Given the description of an element on the screen output the (x, y) to click on. 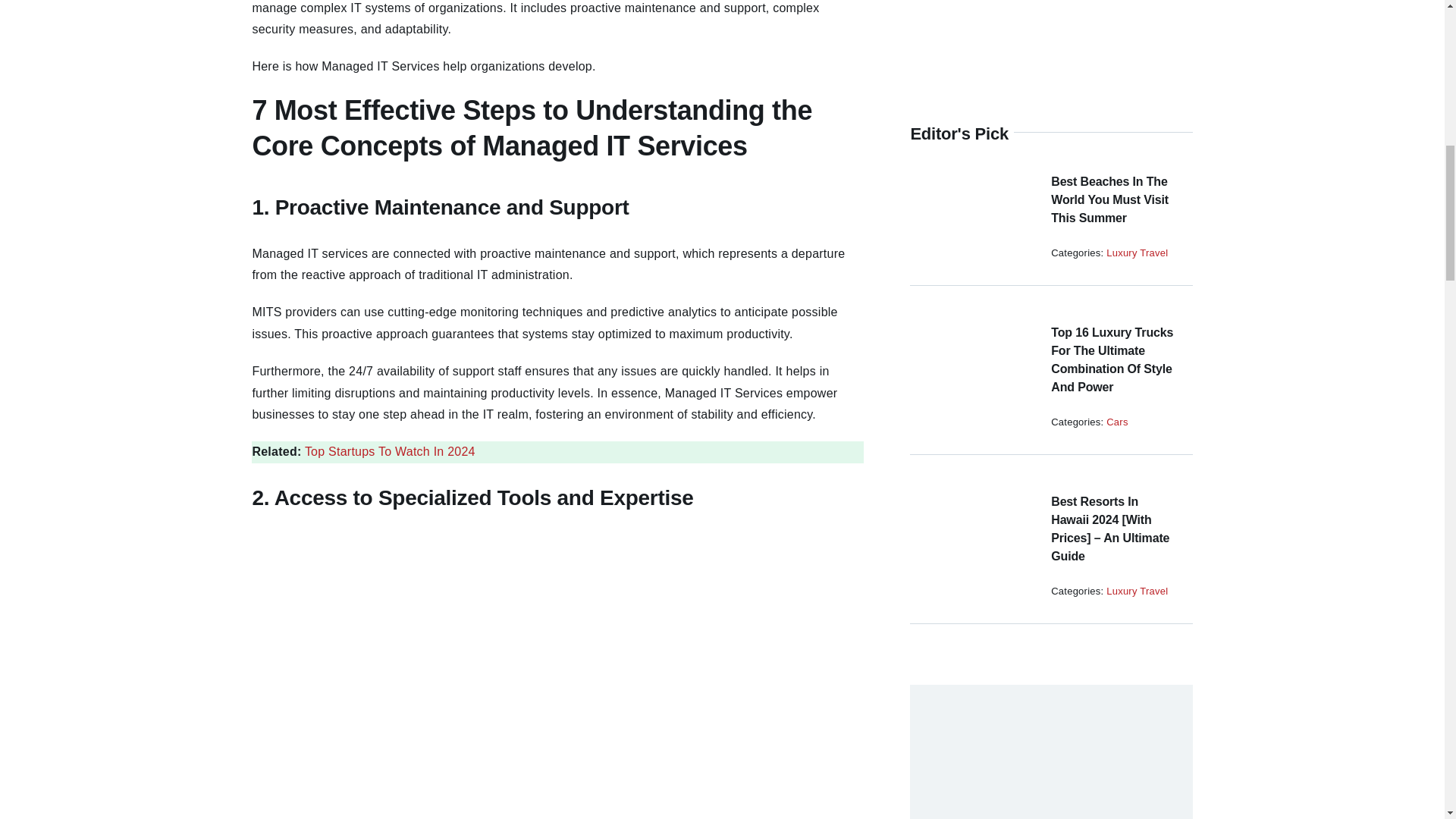
SUBSCRIBE (1050, 295)
